Given the description of an element on the screen output the (x, y) to click on. 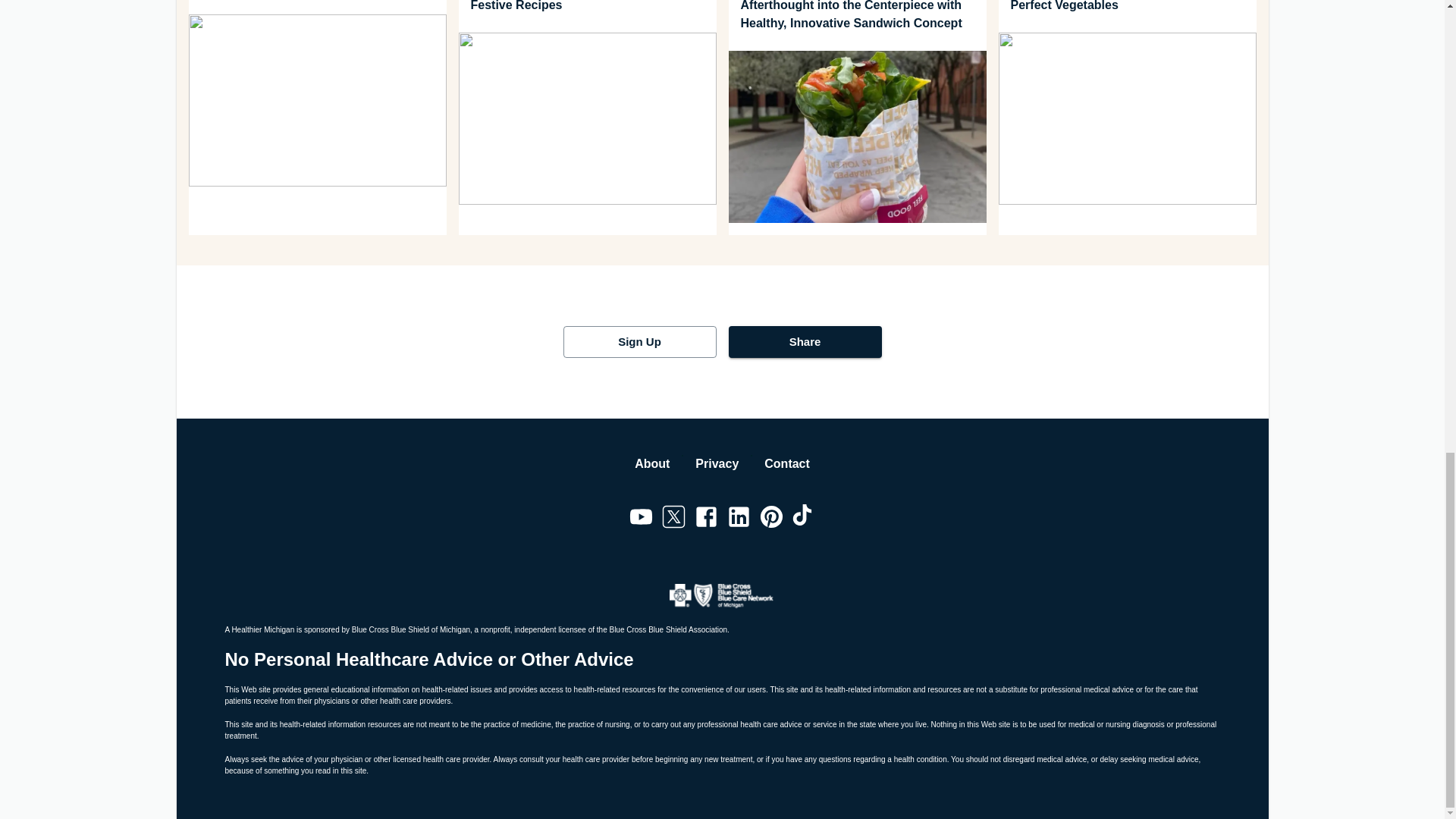
Sizzling Summer Eats - Tips for Grilling Perfect Vegetables (1126, 7)
Sign Up (639, 341)
Spark up Your 4th of July Table with 2 Festive Recipes (587, 7)
